Given the description of an element on the screen output the (x, y) to click on. 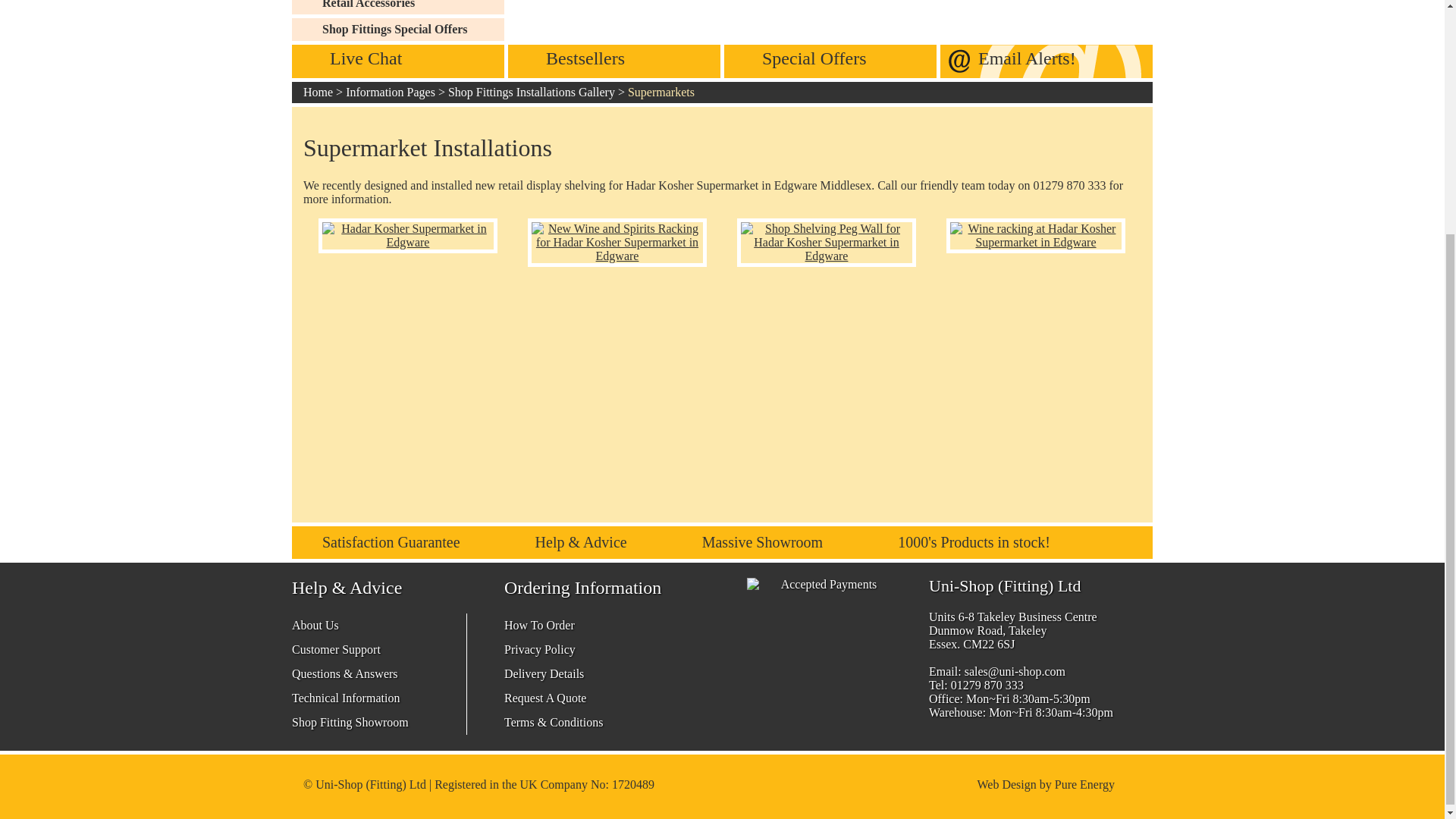
Shop Fitting Showroom (350, 721)
Technical Information (345, 697)
Retail Accessories (412, 7)
Delivery Details (543, 673)
Information Pages (390, 91)
How To Order (539, 625)
Shop Fittings Installations Gallery (531, 91)
Home (317, 91)
Customer Support (336, 649)
About Us (315, 625)
